Given the description of an element on the screen output the (x, y) to click on. 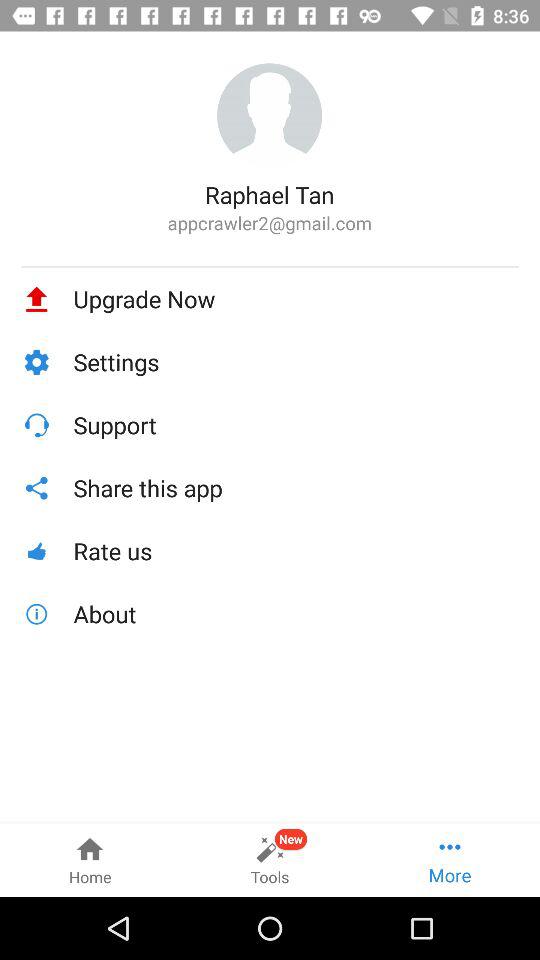
jump until the rate us (296, 550)
